Given the description of an element on the screen output the (x, y) to click on. 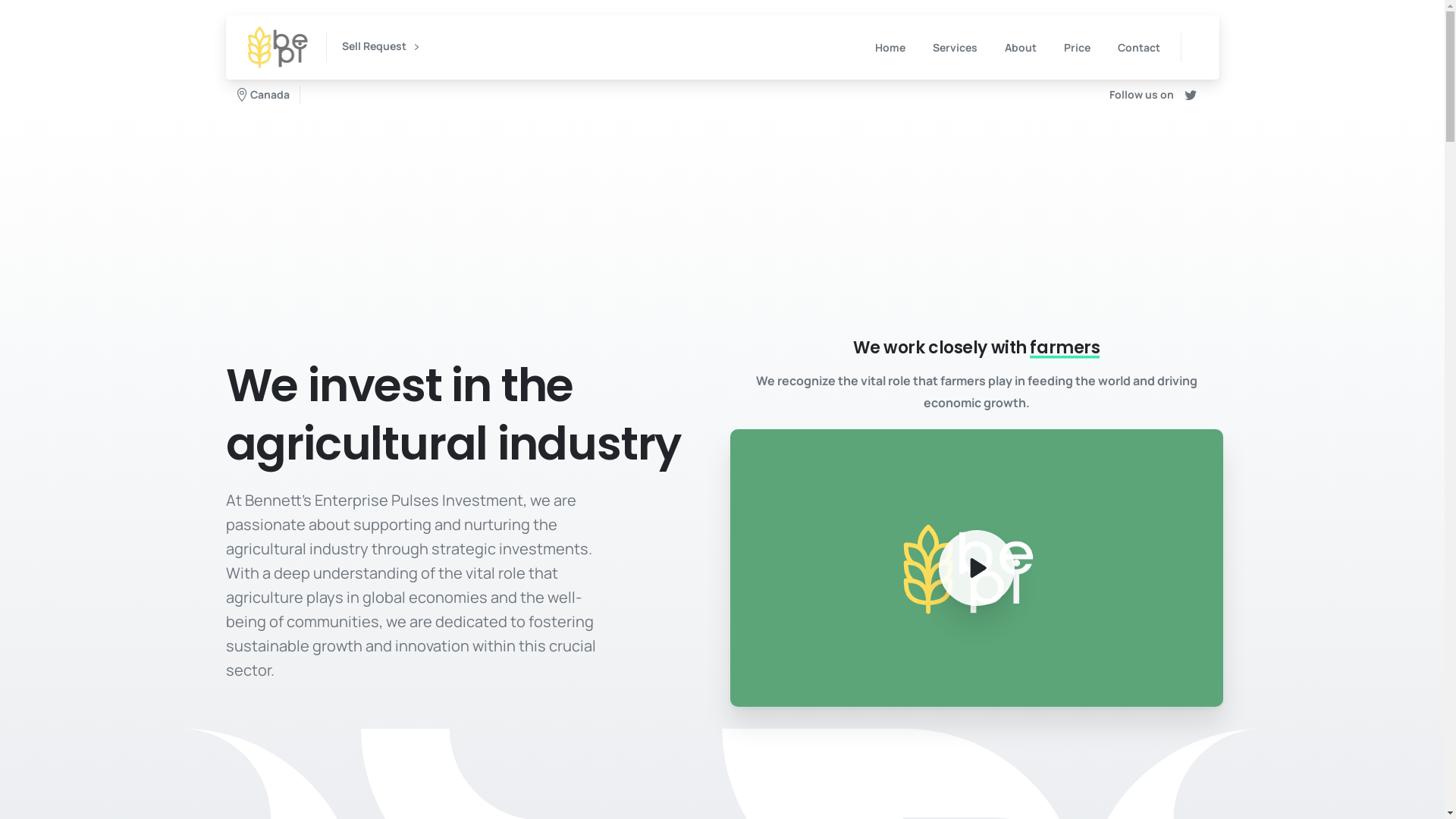
Price Element type: text (1076, 47)
Sell Request Element type: text (380, 46)
twitter Element type: hover (1190, 94)
Home Element type: text (890, 47)
Contact Element type: text (1138, 47)
About Element type: text (1019, 47)
Services Element type: text (954, 47)
